Given the description of an element on the screen output the (x, y) to click on. 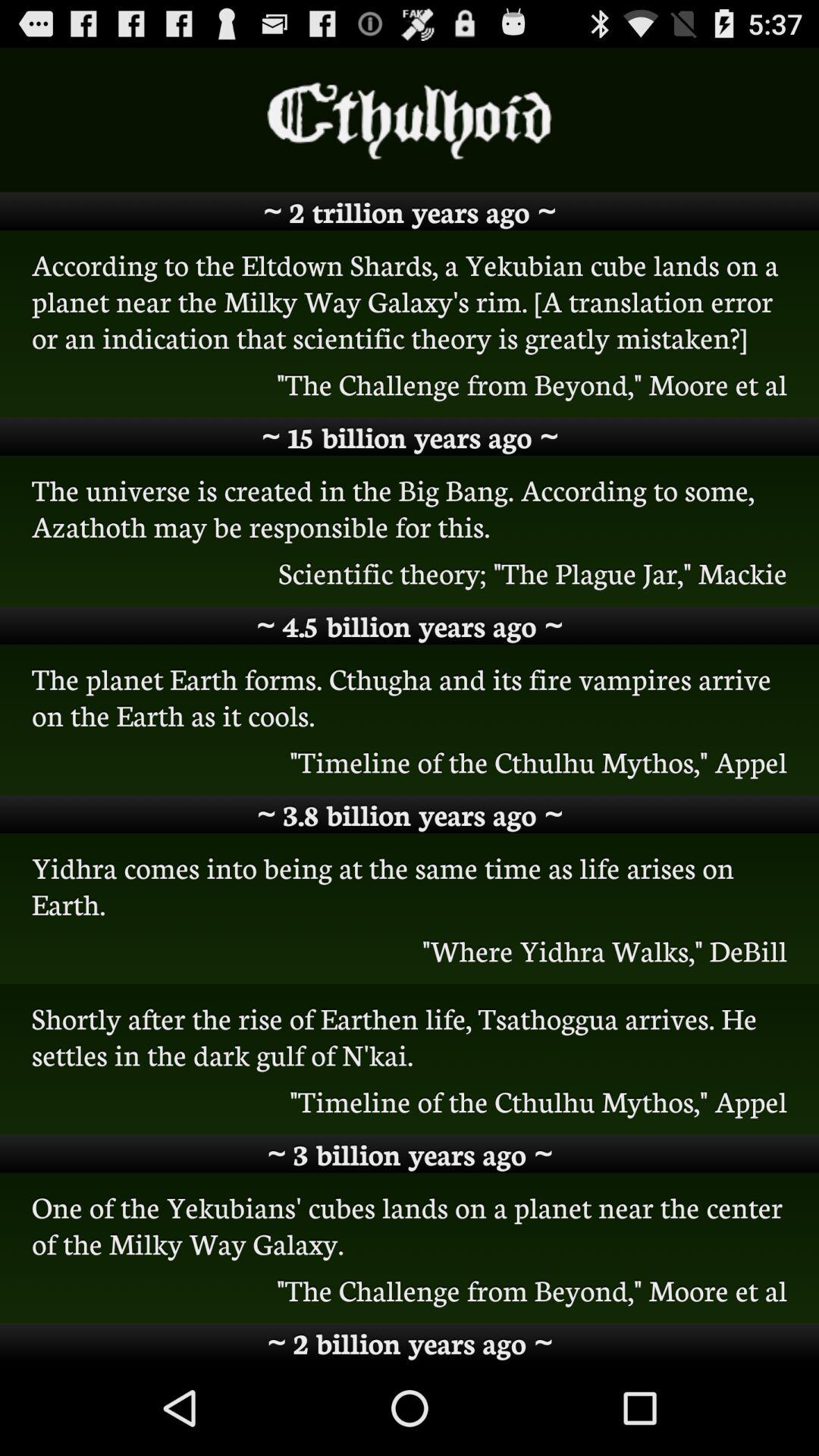
tap the icon above yidhra comes into (409, 814)
